Given the description of an element on the screen output the (x, y) to click on. 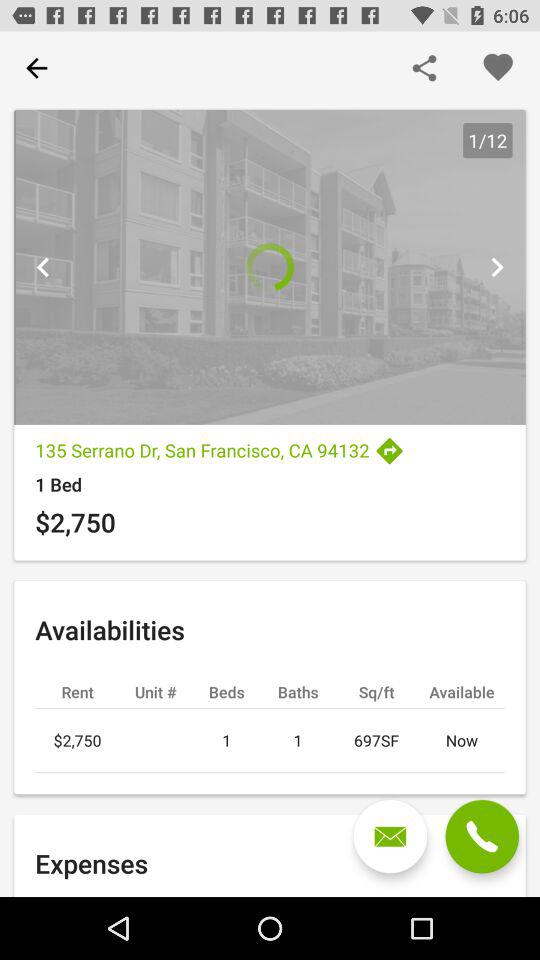
call (481, 836)
